Given the description of an element on the screen output the (x, y) to click on. 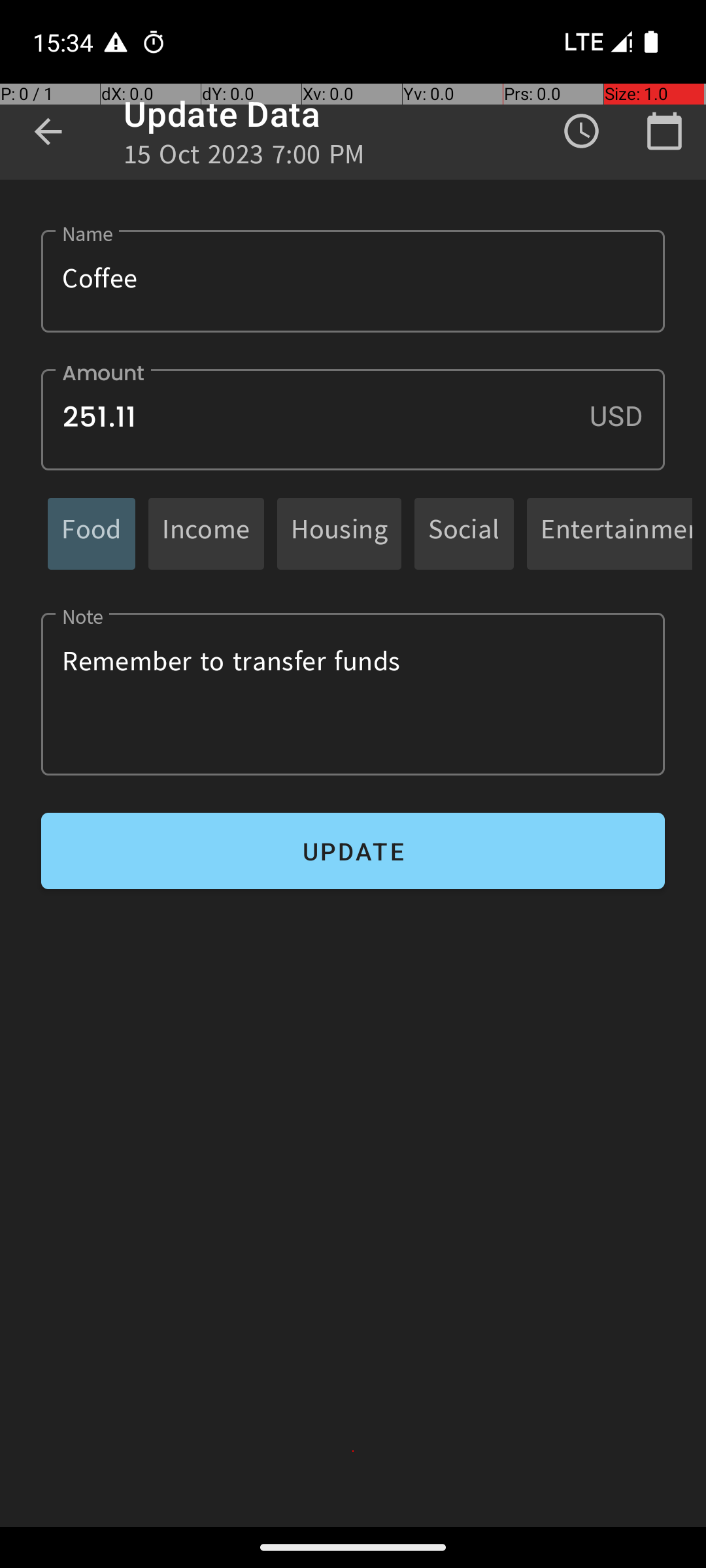
Update Data Element type: android.widget.TextView (221, 113)
15 Oct 2023 7:00 PM Element type: android.widget.TextView (244, 157)
Time Element type: android.widget.TextView (580, 131)
Coffee Element type: android.widget.EditText (352, 280)
251.11 Element type: android.widget.EditText (352, 419)
Remember to transfer funds Element type: android.widget.EditText (352, 693)
UPDATE Element type: android.widget.Button (352, 850)
Food Element type: android.widget.TextView (91, 533)
Income Element type: android.widget.TextView (206, 533)
Housing Element type: android.widget.TextView (338, 533)
Social Element type: android.widget.TextView (464, 533)
Entertainment Element type: android.widget.TextView (616, 533)
